Given the description of an element on the screen output the (x, y) to click on. 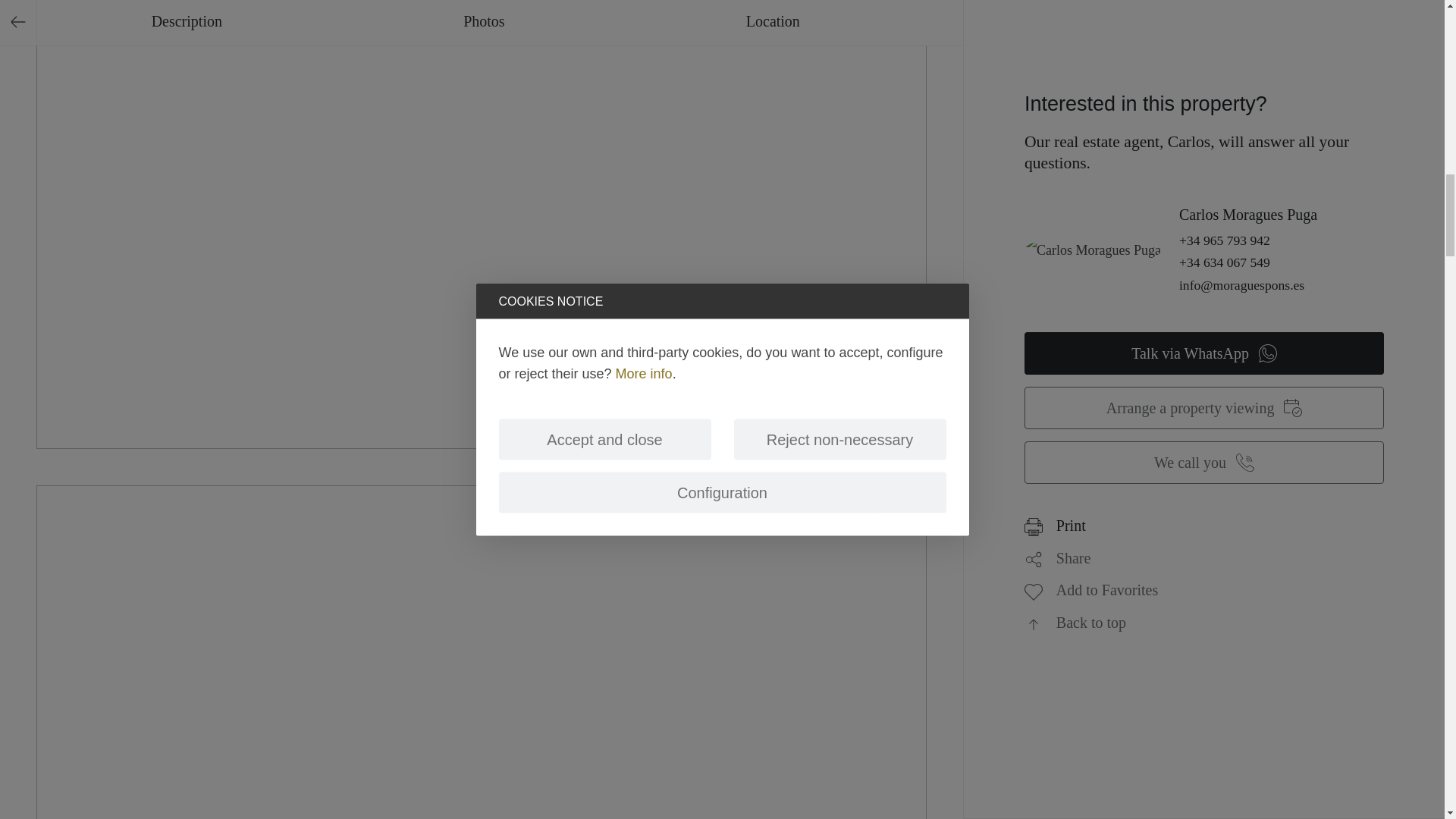
Photo 1 of 7 (481, 131)
